Given the description of an element on the screen output the (x, y) to click on. 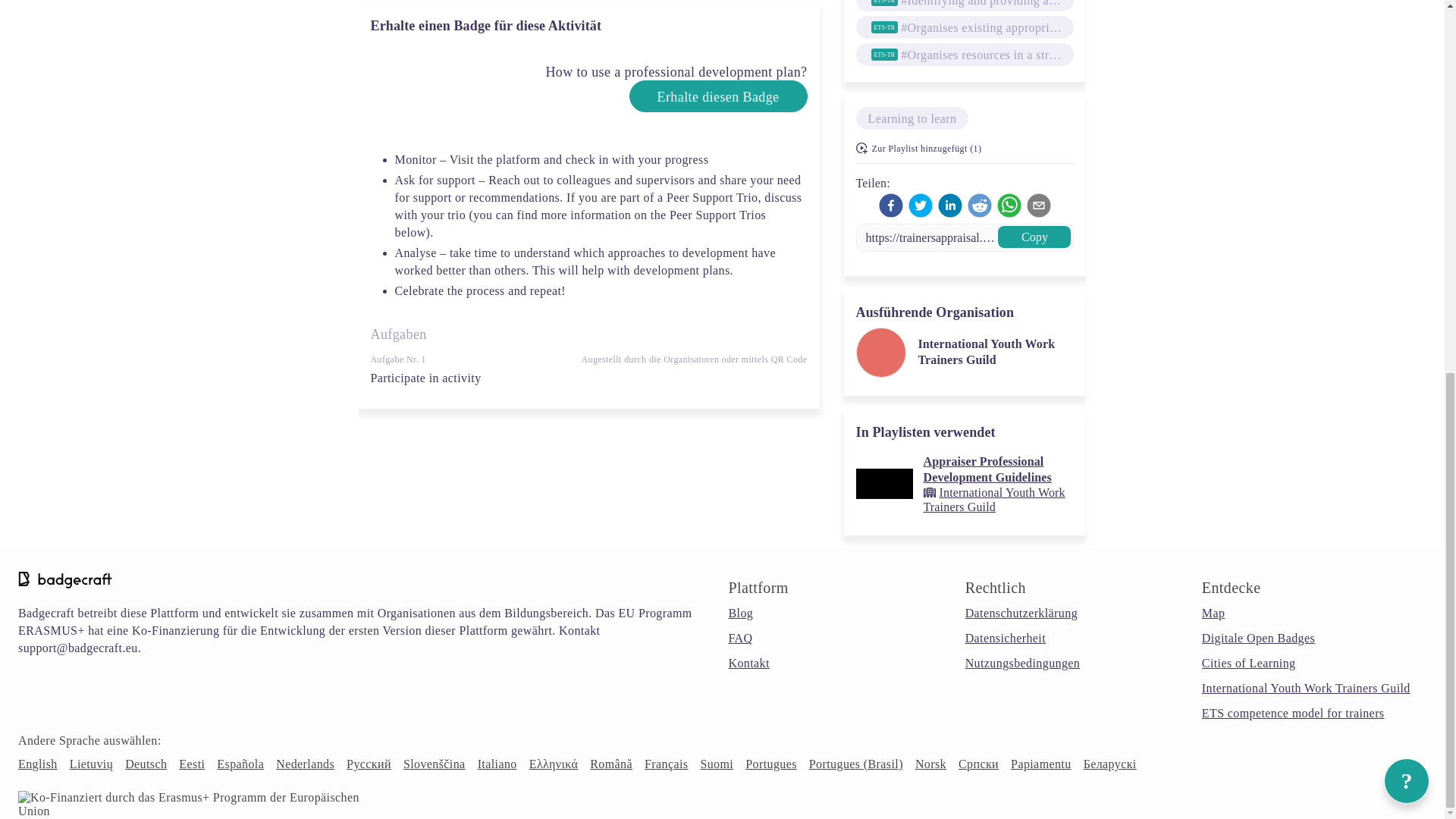
International Youth Work Trainers Guild (1306, 687)
Kontakt (748, 662)
Nederlands (305, 763)
Deutsch (146, 763)
How to use a professional development plan? (639, 87)
Erhalte diesen Badge (718, 96)
Blog (740, 612)
FAQ (740, 637)
Map (1213, 612)
Cities of Learning (1248, 662)
English (37, 763)
Italiano (496, 763)
ETS competence model for trainers (1293, 712)
Nutzungsbedingungen (1022, 662)
